Given the description of an element on the screen output the (x, y) to click on. 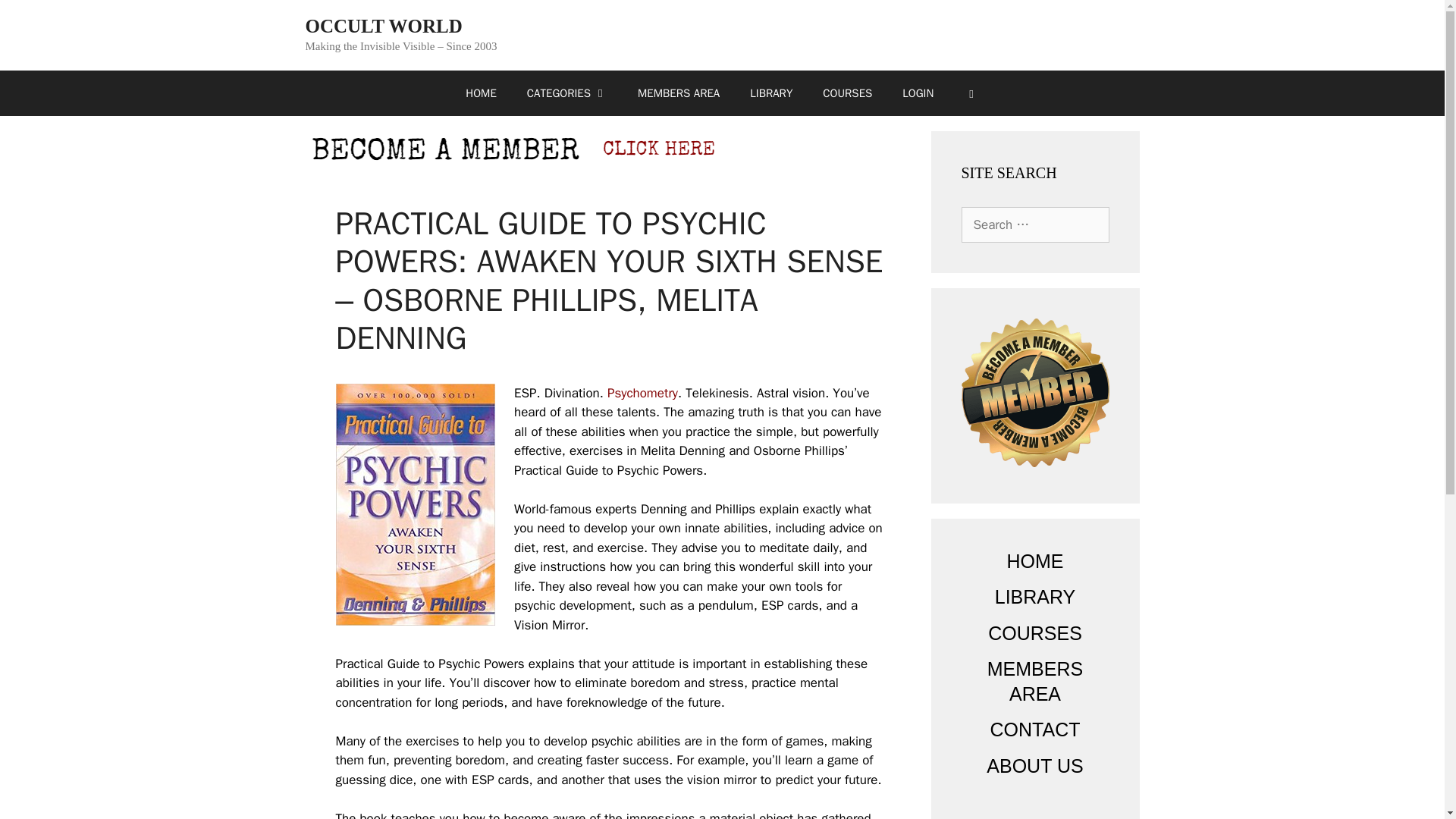
OCCULT WORLD (382, 25)
CATEGORIES (567, 92)
HOME (480, 92)
Search for: (1034, 224)
